Given the description of an element on the screen output the (x, y) to click on. 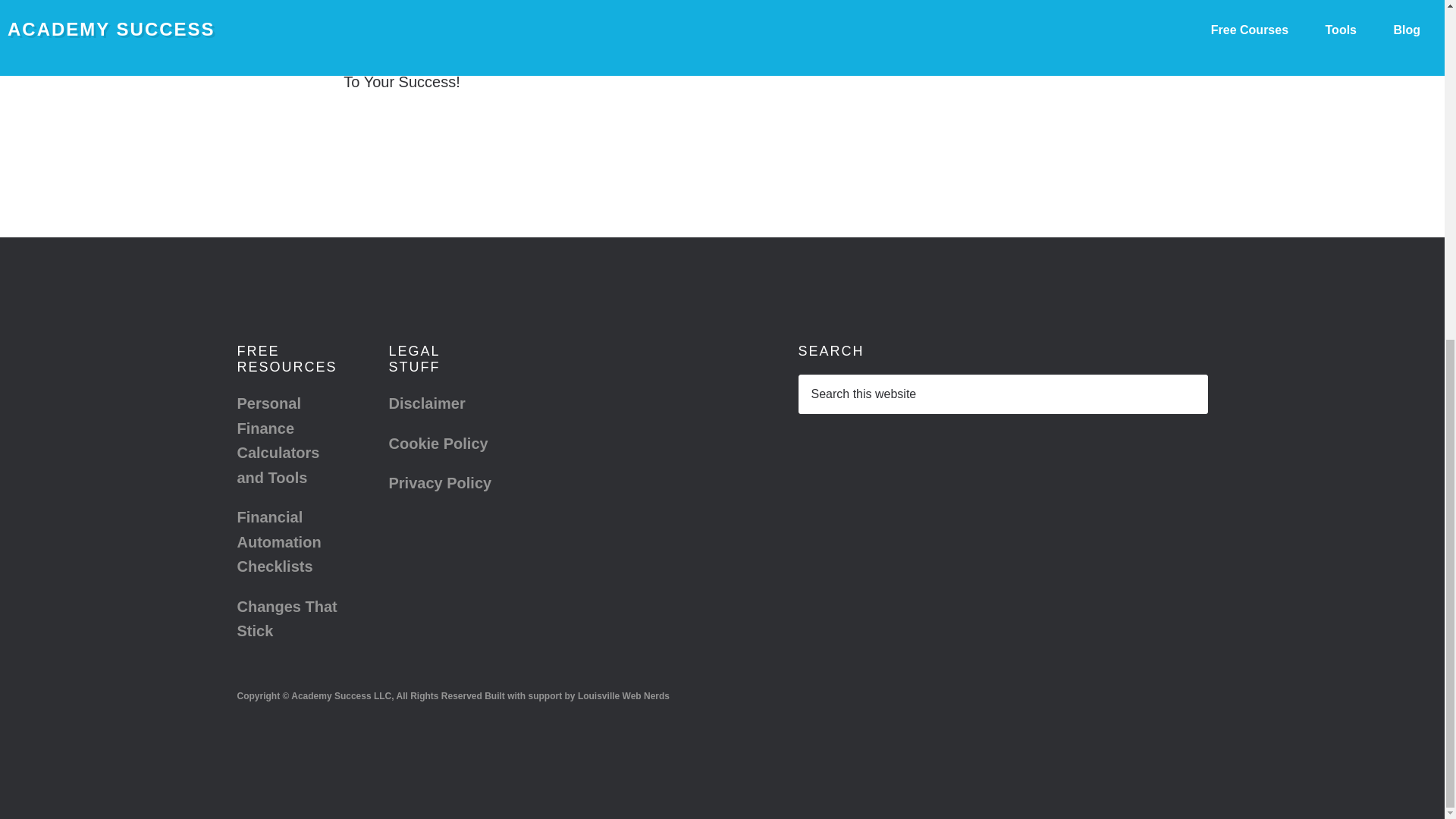
Disclaimer (426, 402)
Financial Automation Checklists (277, 541)
Personal Finance Calculators and Tools (276, 440)
Louisville Web Nerds (623, 696)
Cookie Policy (437, 443)
Changes That Stick (285, 618)
Privacy Policy (440, 483)
